Given the description of an element on the screen output the (x, y) to click on. 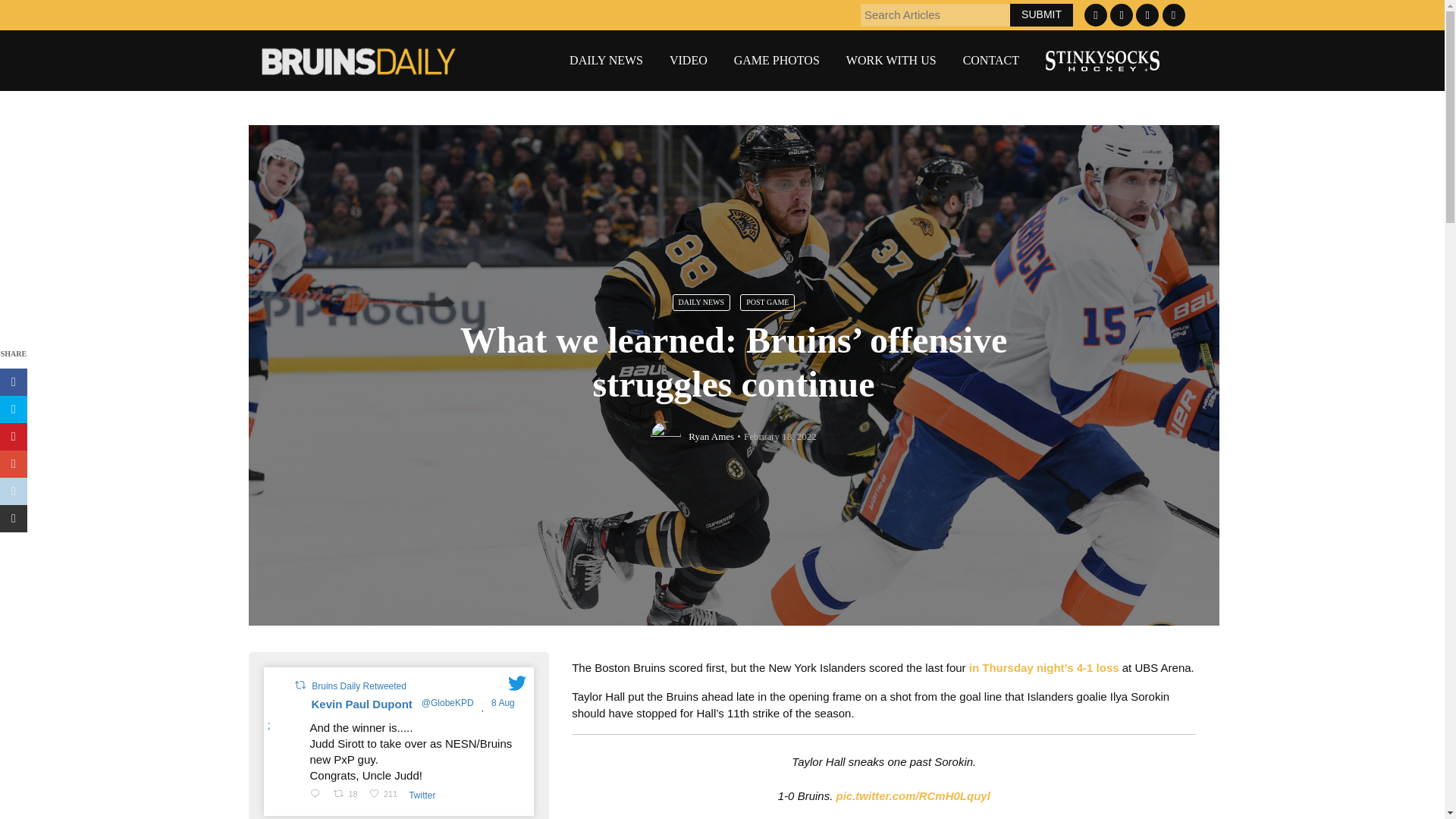
DAILY NEWS (606, 60)
Submit (1041, 14)
GAME PHOTOS (776, 60)
BruinsDaily.com Daily News (606, 60)
WORK WITH US (890, 60)
DAILY NEWS (701, 302)
VIDEO (688, 60)
POST GAME (766, 302)
CONTACT (990, 60)
Submit (1041, 14)
